Given the description of an element on the screen output the (x, y) to click on. 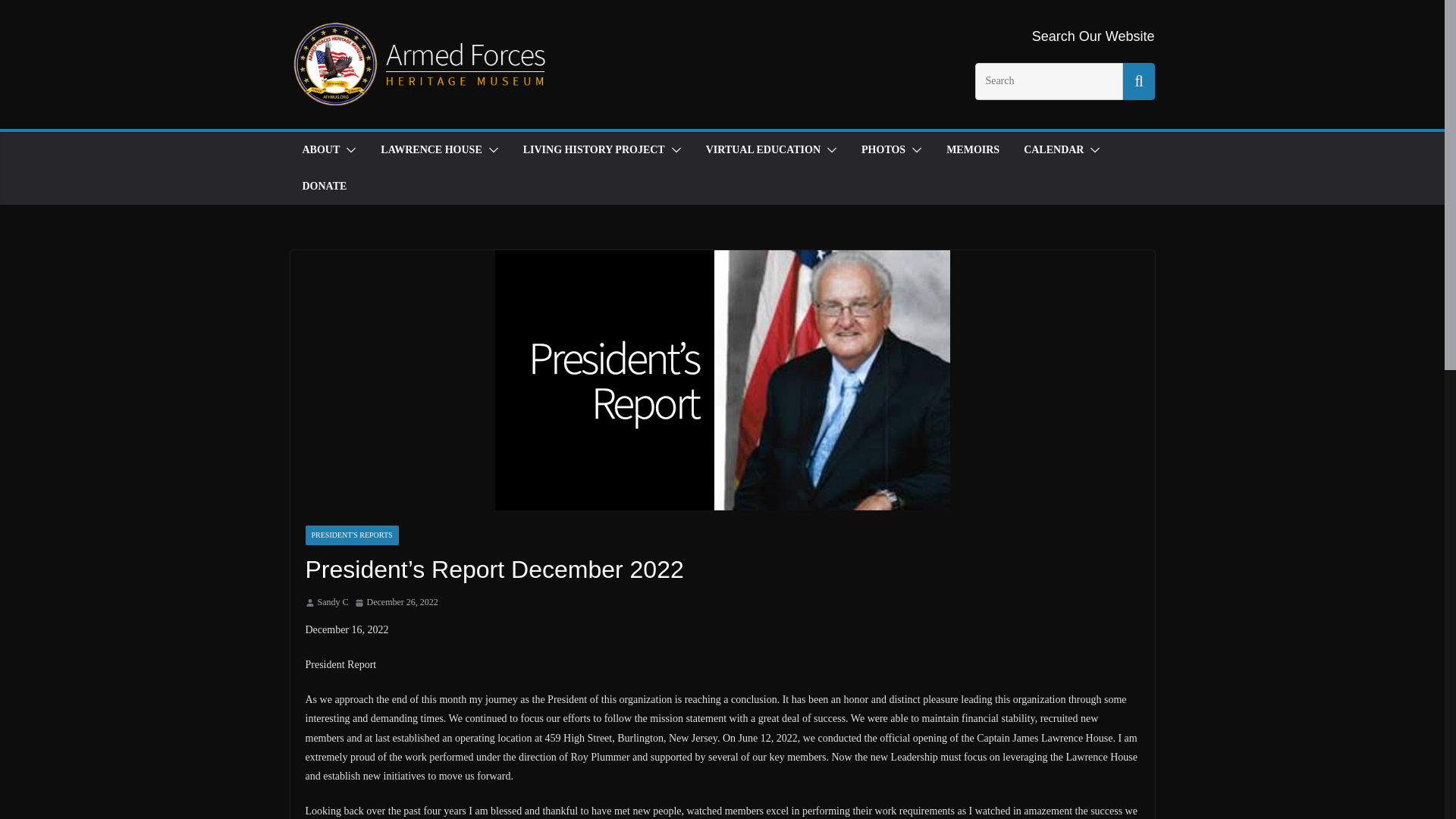
ABOUT (320, 149)
LAWRENCE HOUSE (430, 149)
Sandy C (332, 602)
2:30 pm (396, 602)
LIVING HISTORY PROJECT (593, 149)
